Given the description of an element on the screen output the (x, y) to click on. 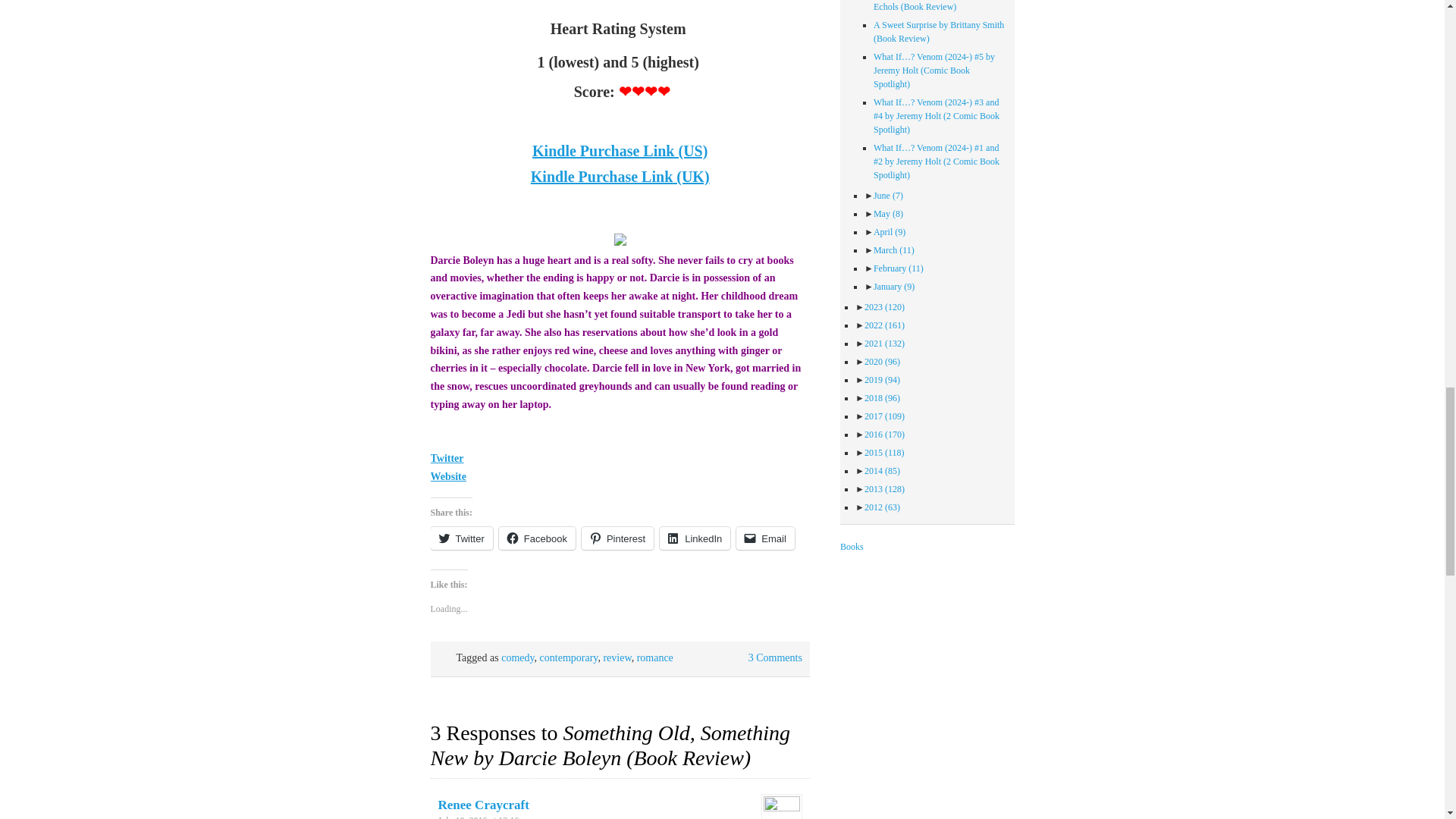
Click to share on Pinterest (616, 538)
LinkedIn (694, 538)
Twitter (461, 538)
Click to share on Facebook (537, 538)
Click to share on LinkedIn (694, 538)
July 10, 2016 at 12:16 pm (485, 816)
Website (447, 476)
romance (654, 657)
comedy (517, 657)
Pinterest (616, 538)
contemporary (569, 657)
3 Comments (775, 657)
Facebook (537, 538)
review (616, 657)
Email (765, 538)
